Given the description of an element on the screen output the (x, y) to click on. 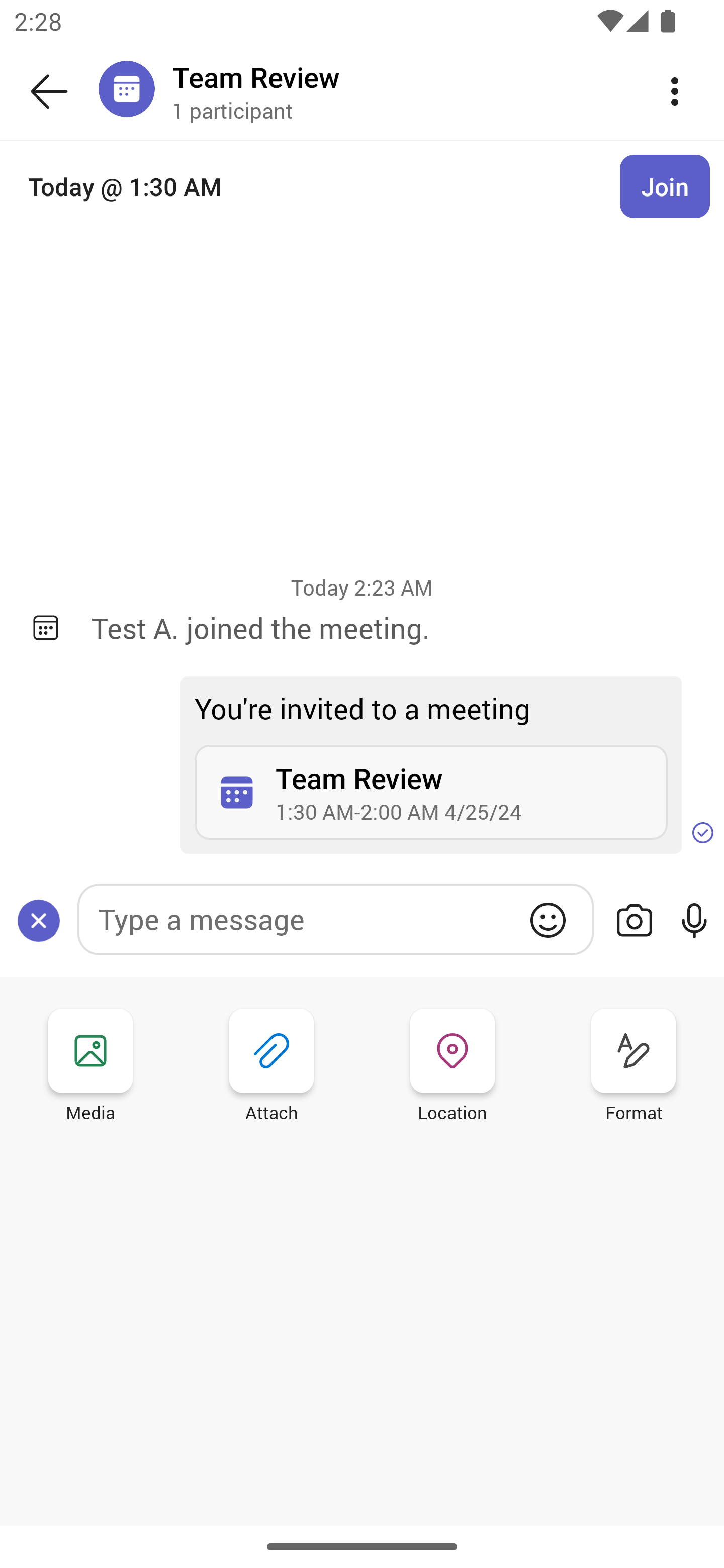
Back (49, 91)
More options (674, 90)
Team Review Team Review 1 participant (398, 90)
Join (664, 186)
Test A. joined the meeting. (393, 627)
Compose options, expanded (38, 920)
Button for loading camera action functionality (633, 920)
Type a message (335, 918)
GIFs and emojis picker (548, 919)
Media (90, 1068)
Attach (271, 1068)
Location (452, 1068)
Format (633, 1068)
